Given the description of an element on the screen output the (x, y) to click on. 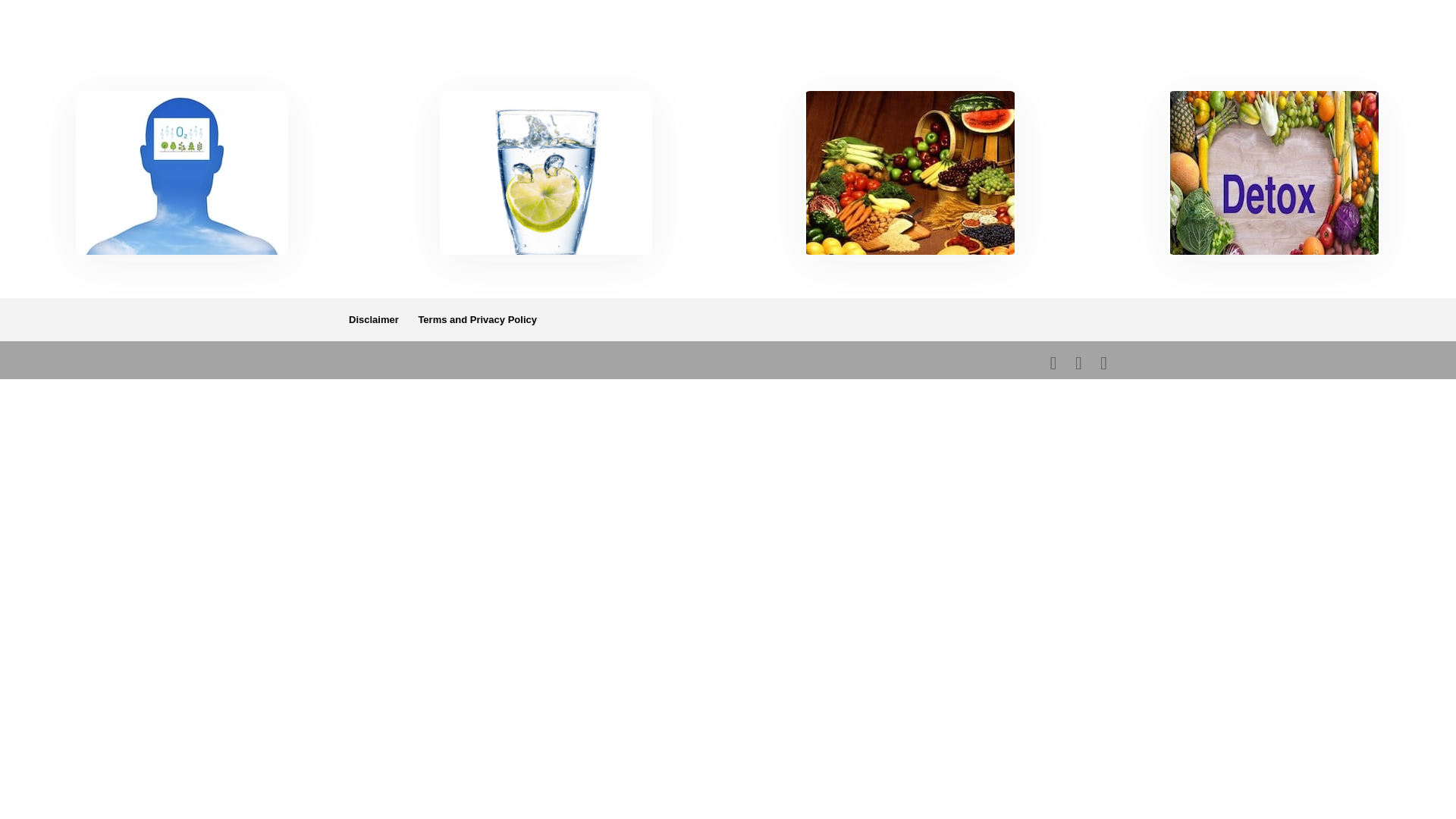
Disclaimer (373, 319)
Terms and Privacy Policy (477, 319)
